Given the description of an element on the screen output the (x, y) to click on. 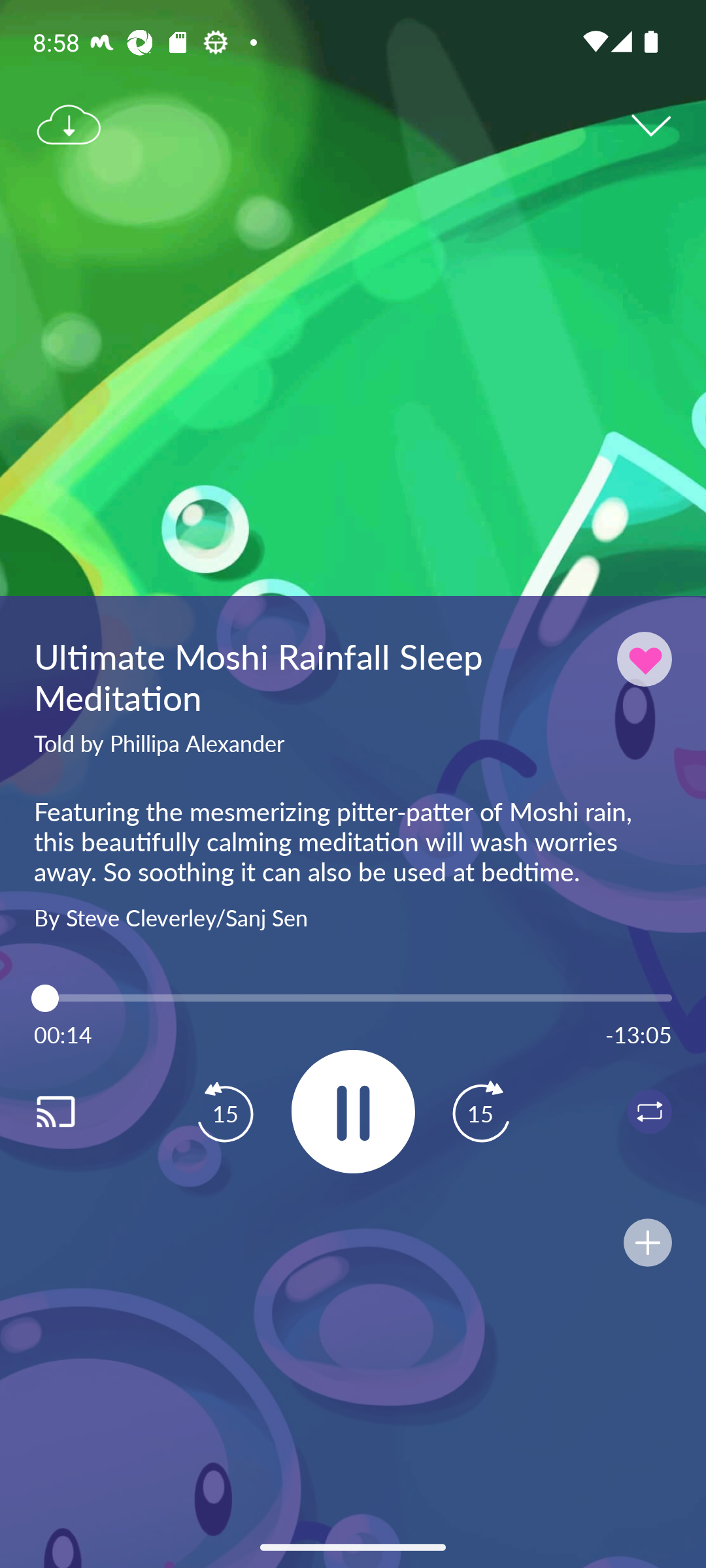
14.0 (352, 997)
Cast. Disconnected (76, 1111)
